Given the description of an element on the screen output the (x, y) to click on. 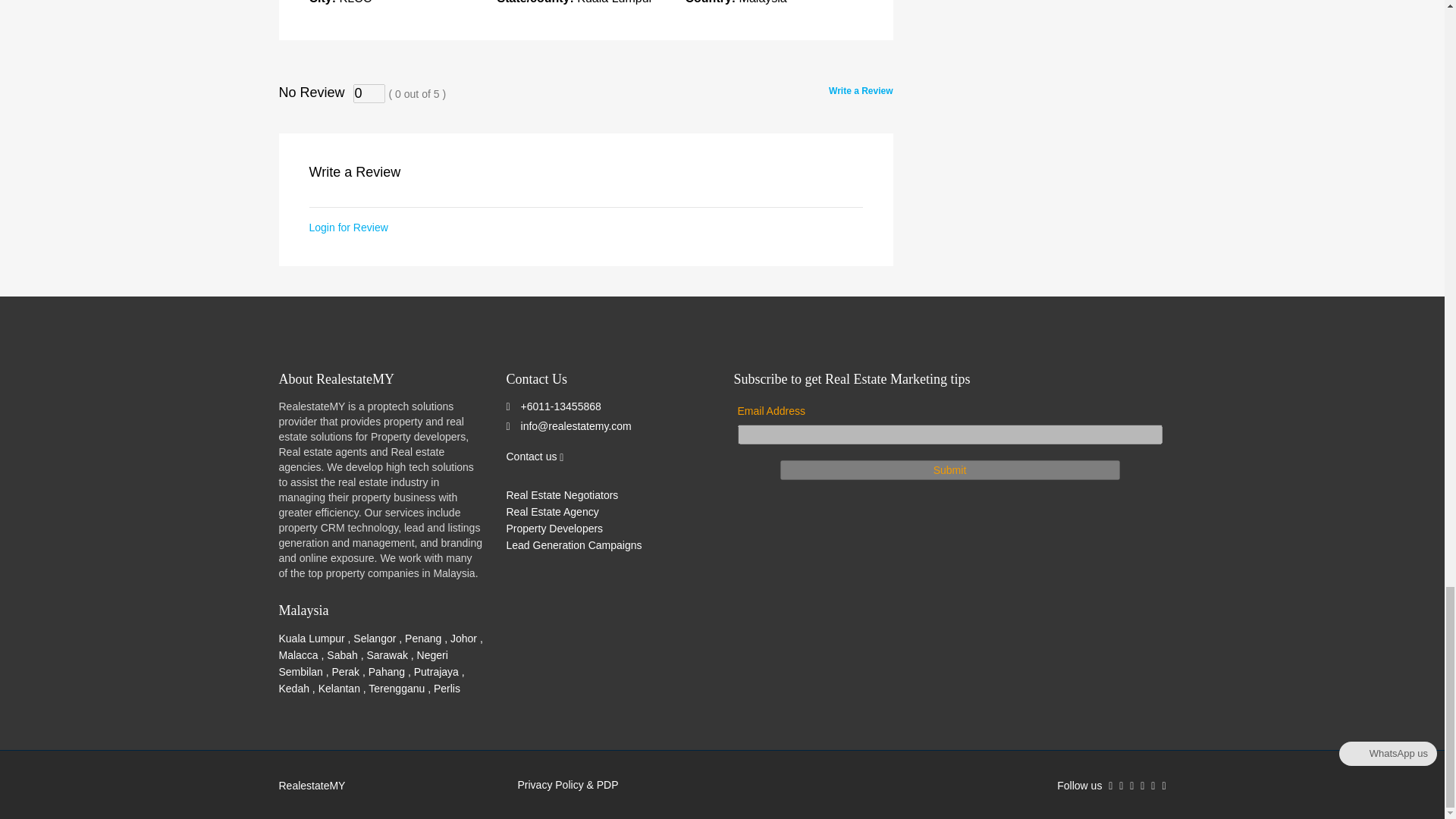
Write a Review (860, 90)
Submit (948, 469)
Login for Review (348, 227)
0 (369, 93)
